Given the description of an element on the screen output the (x, y) to click on. 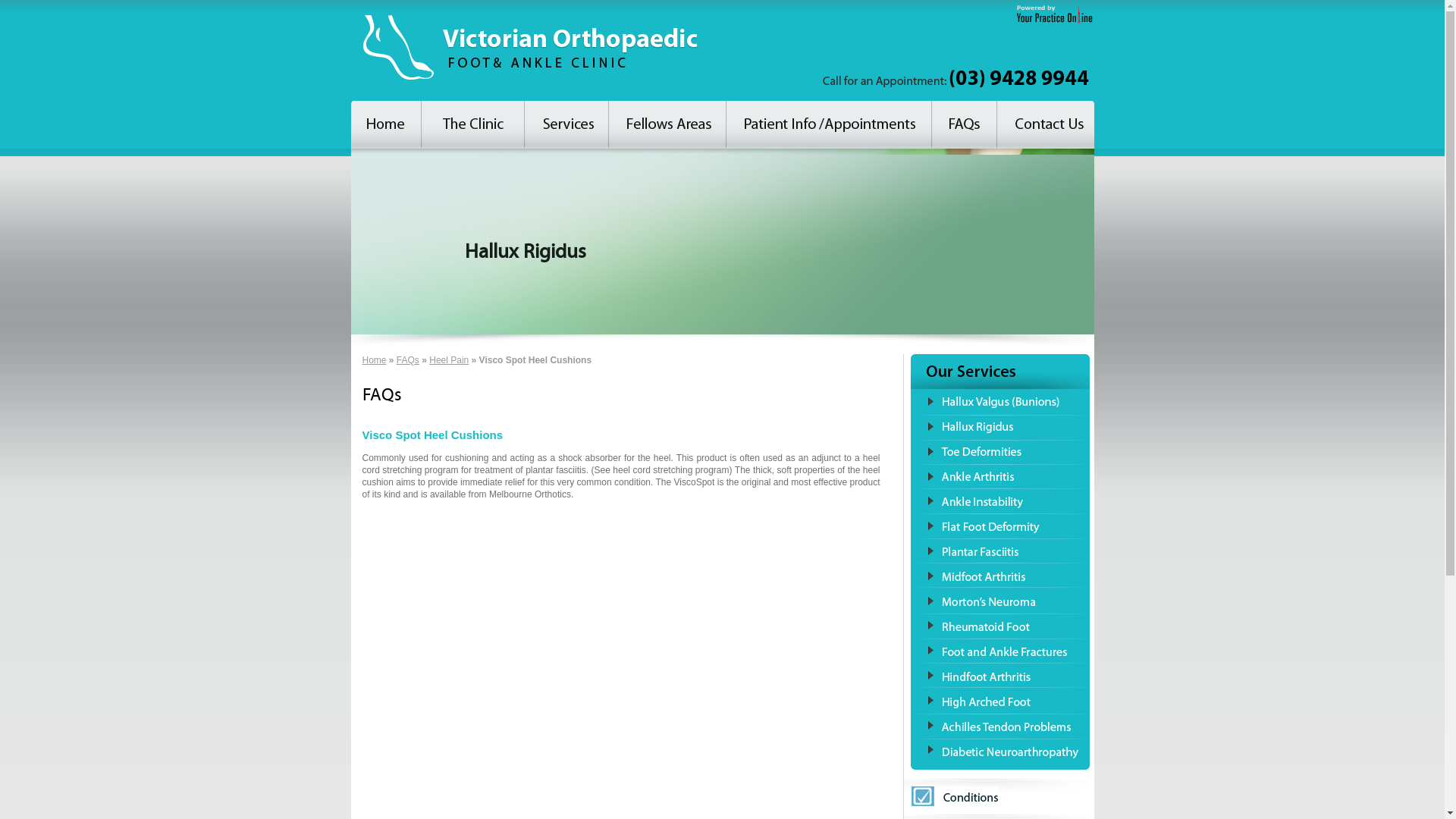
  Element type: text (666, 124)
Home Element type: text (374, 359)
  Element type: text (385, 124)
  Element type: text (827, 124)
  Element type: text (1045, 124)
  Element type: text (471, 124)
Heel Pain Element type: text (448, 359)
FAQs Element type: text (407, 359)
  Element type: text (963, 124)
  Element type: text (565, 124)
